Given the description of an element on the screen output the (x, y) to click on. 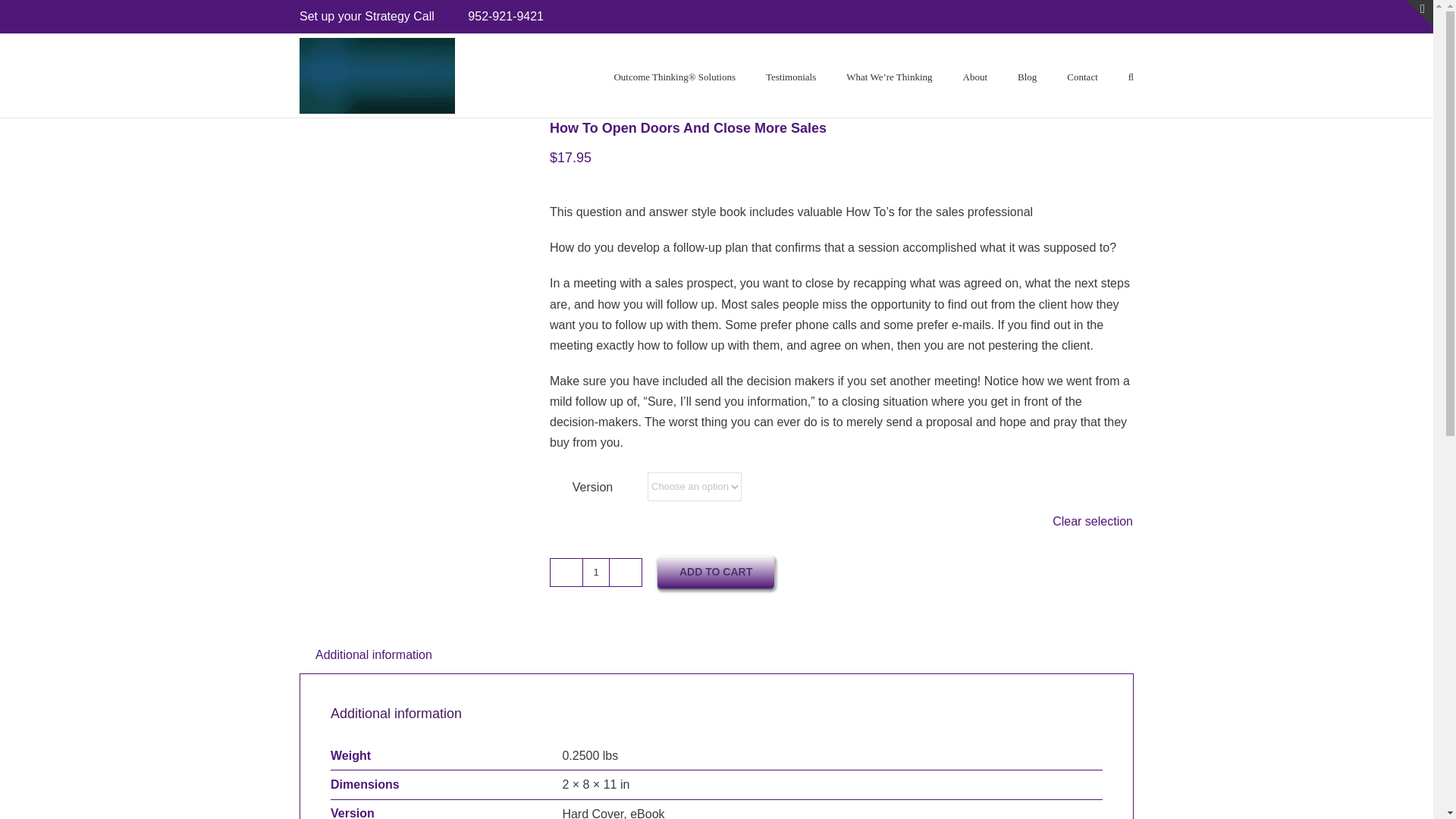
1 (596, 572)
Set up your Strategy Call (366, 15)
ADD TO CART (716, 572)
Clear selection (1092, 521)
Additional information (373, 654)
952-921-9421 (505, 15)
